Given the description of an element on the screen output the (x, y) to click on. 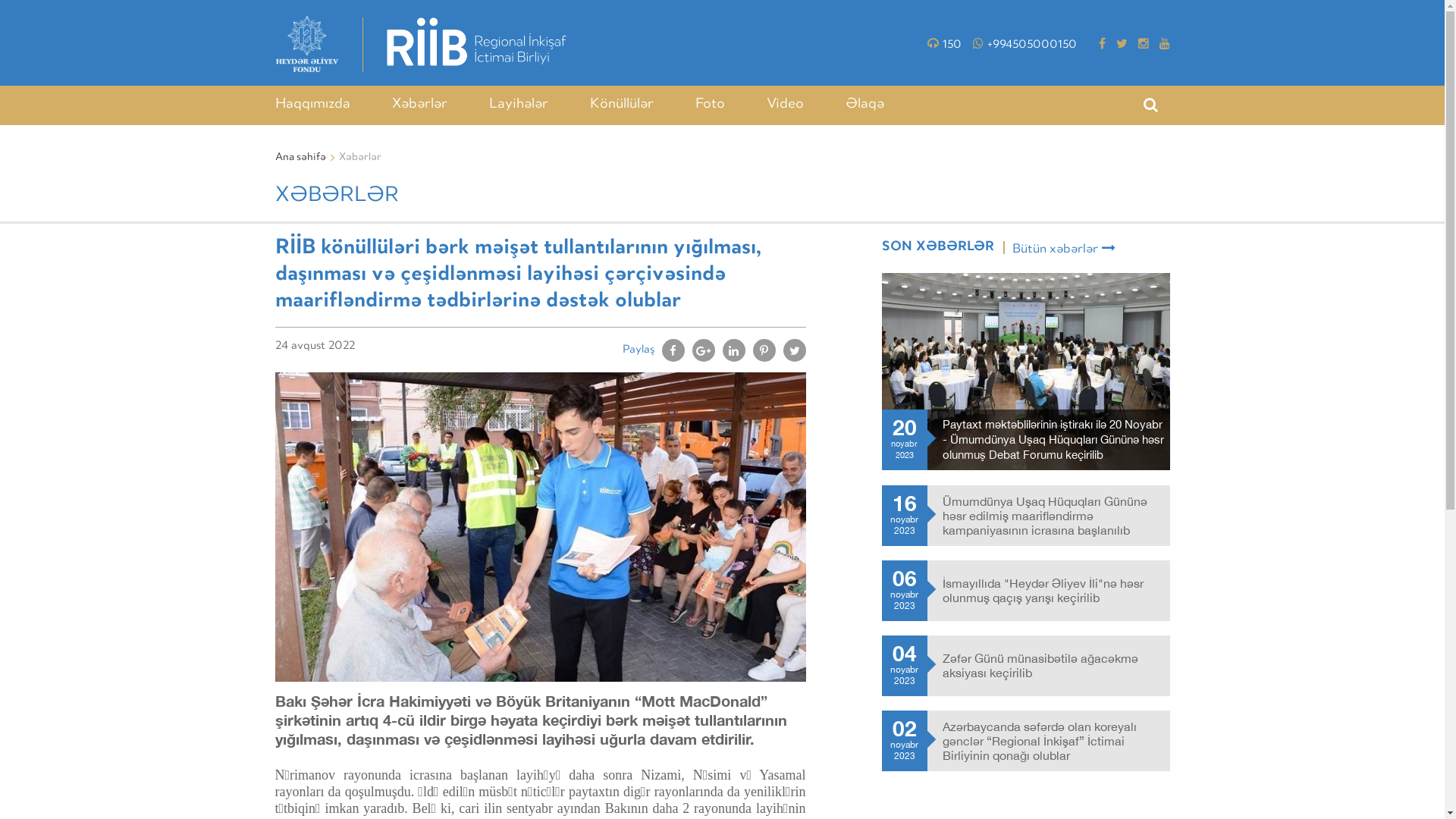
Share on Google+ Element type: hover (702, 349)
Share on Facebook Element type: hover (672, 349)
Video Element type: text (784, 104)
Pin It Element type: hover (763, 349)
Foto Element type: text (709, 104)
Share on Twitter Element type: hover (793, 349)
Share on Linkedin Element type: hover (732, 349)
